Given the description of an element on the screen output the (x, y) to click on. 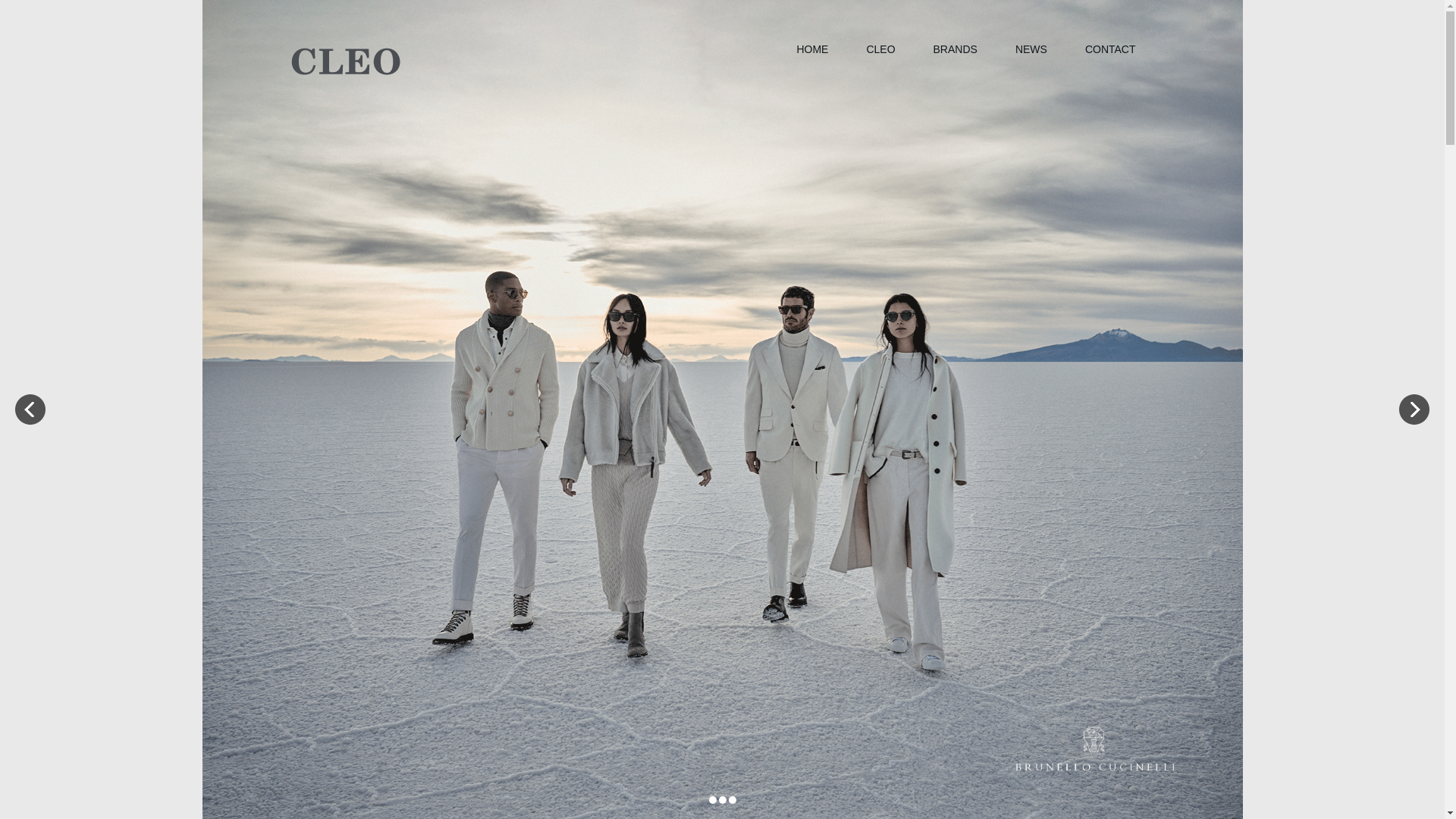
BRANDS Element type: text (955, 49)
CLEO Element type: text (880, 49)
CONTACT Element type: text (1110, 49)
NEWS Element type: text (1031, 49)
HOME Element type: text (812, 49)
